Given the description of an element on the screen output the (x, y) to click on. 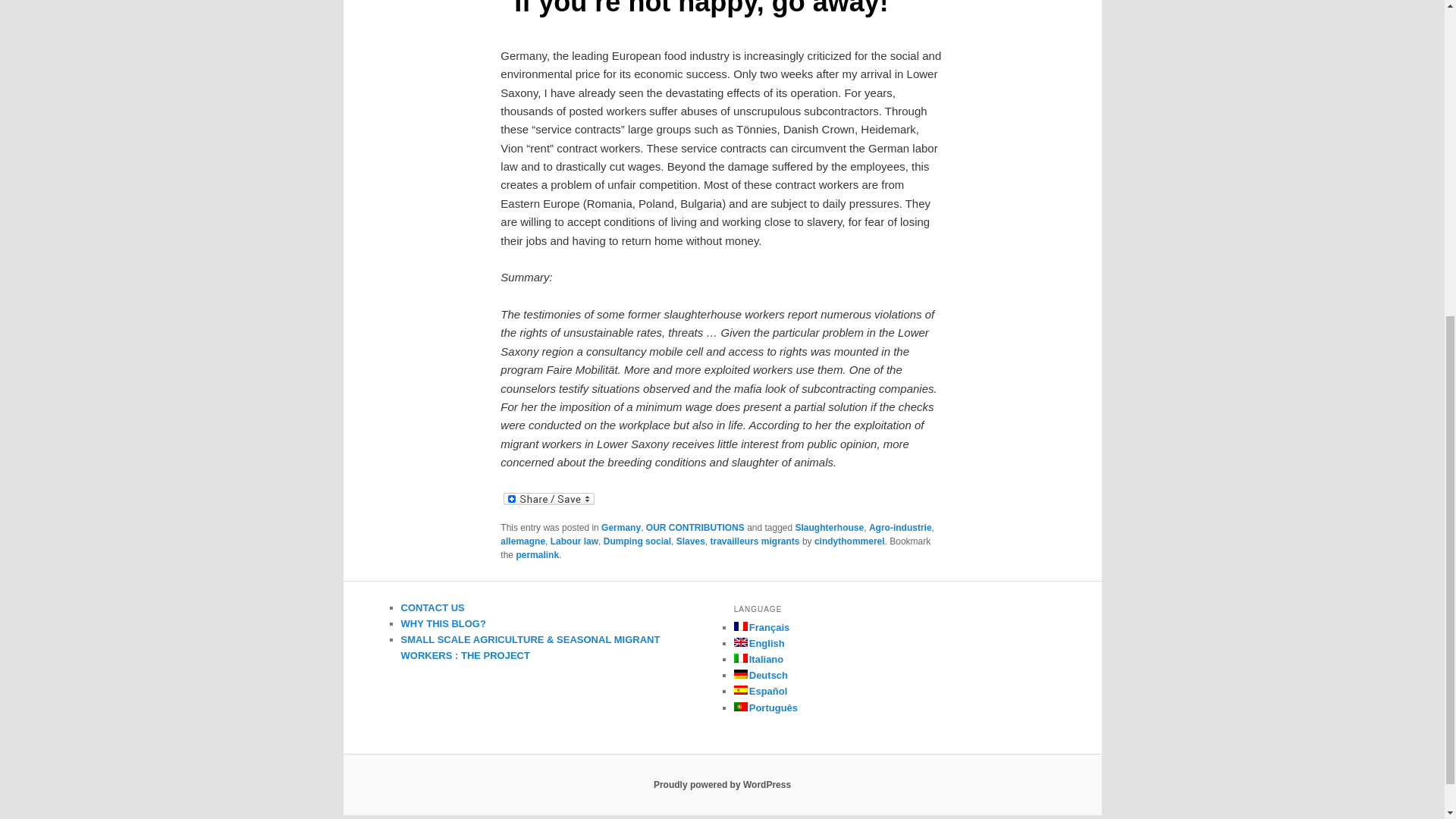
Deutsch (760, 674)
Germany (620, 527)
Semantic Personal Publishing Platform (721, 784)
English (758, 643)
Italiano (758, 659)
